Given the description of an element on the screen output the (x, y) to click on. 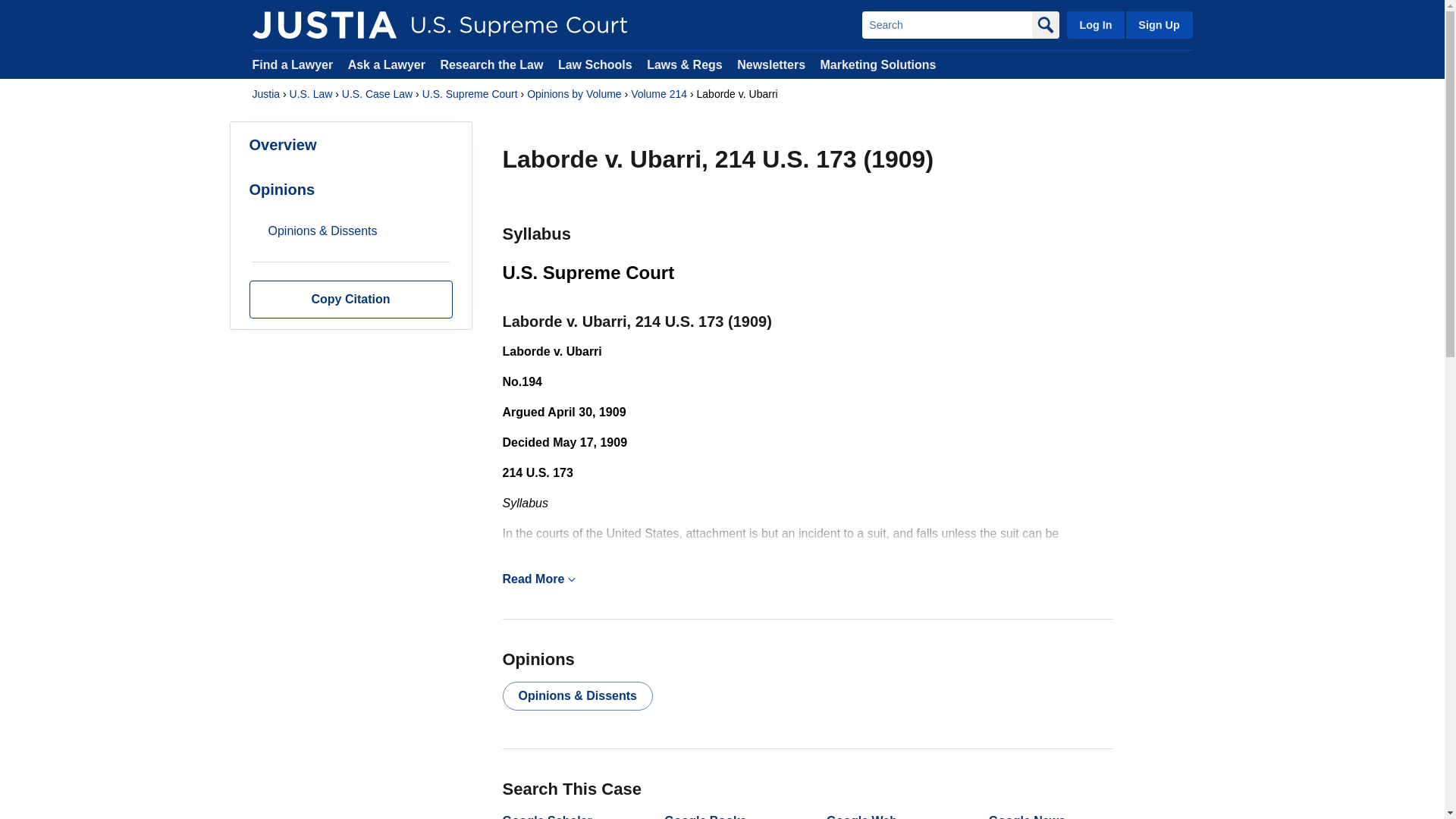
Sign Up (1158, 24)
Newsletters (770, 64)
Research the Law (491, 64)
U.S. Supreme Court (470, 93)
Justia (323, 24)
Ask a Lawyer (388, 64)
Volume 214 (658, 93)
U.S. Case Law (377, 93)
Marketing Solutions (877, 64)
103 U. S. 794 (727, 551)
